Given the description of an element on the screen output the (x, y) to click on. 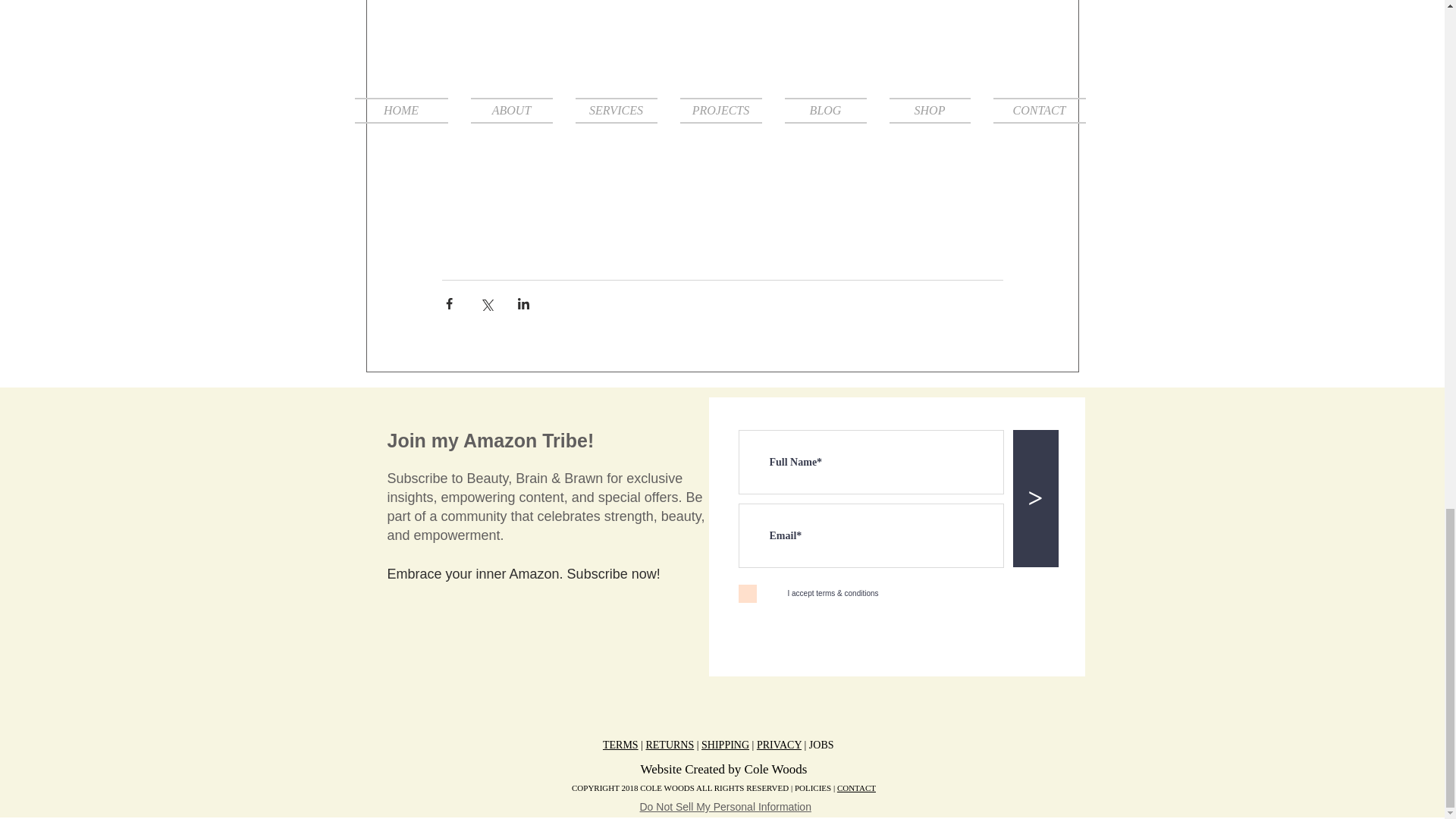
PRIVACY (779, 745)
Do Not Sell My Personal Information (725, 807)
RETURNS (669, 745)
TERMS (620, 745)
SHIPPING (725, 745)
CONTACT (856, 787)
